Given the description of an element on the screen output the (x, y) to click on. 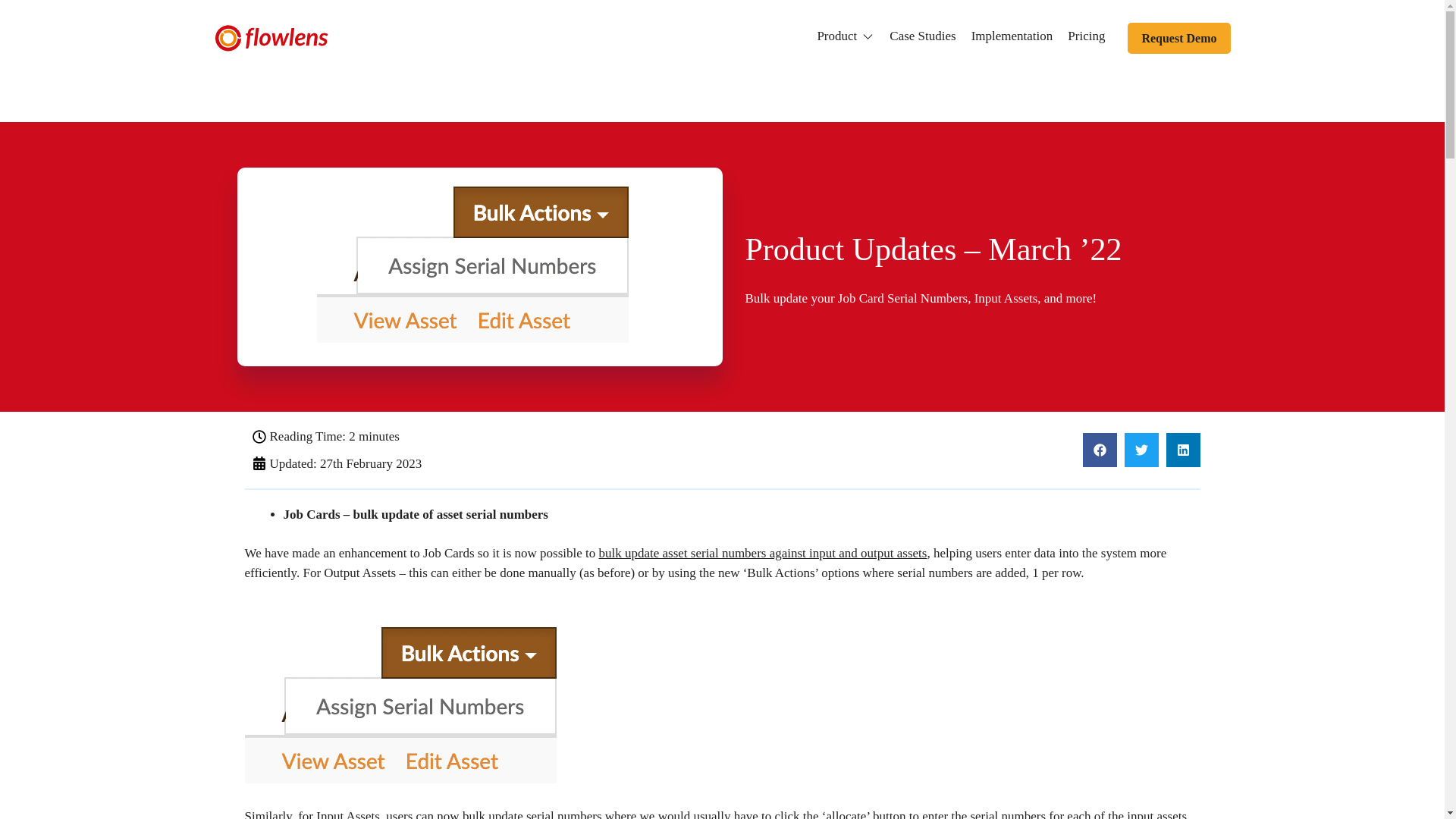
Implementation (1011, 35)
Product (836, 35)
Case Studies (922, 35)
Request Demo (1178, 38)
Pricing (1086, 35)
